Given the description of an element on the screen output the (x, y) to click on. 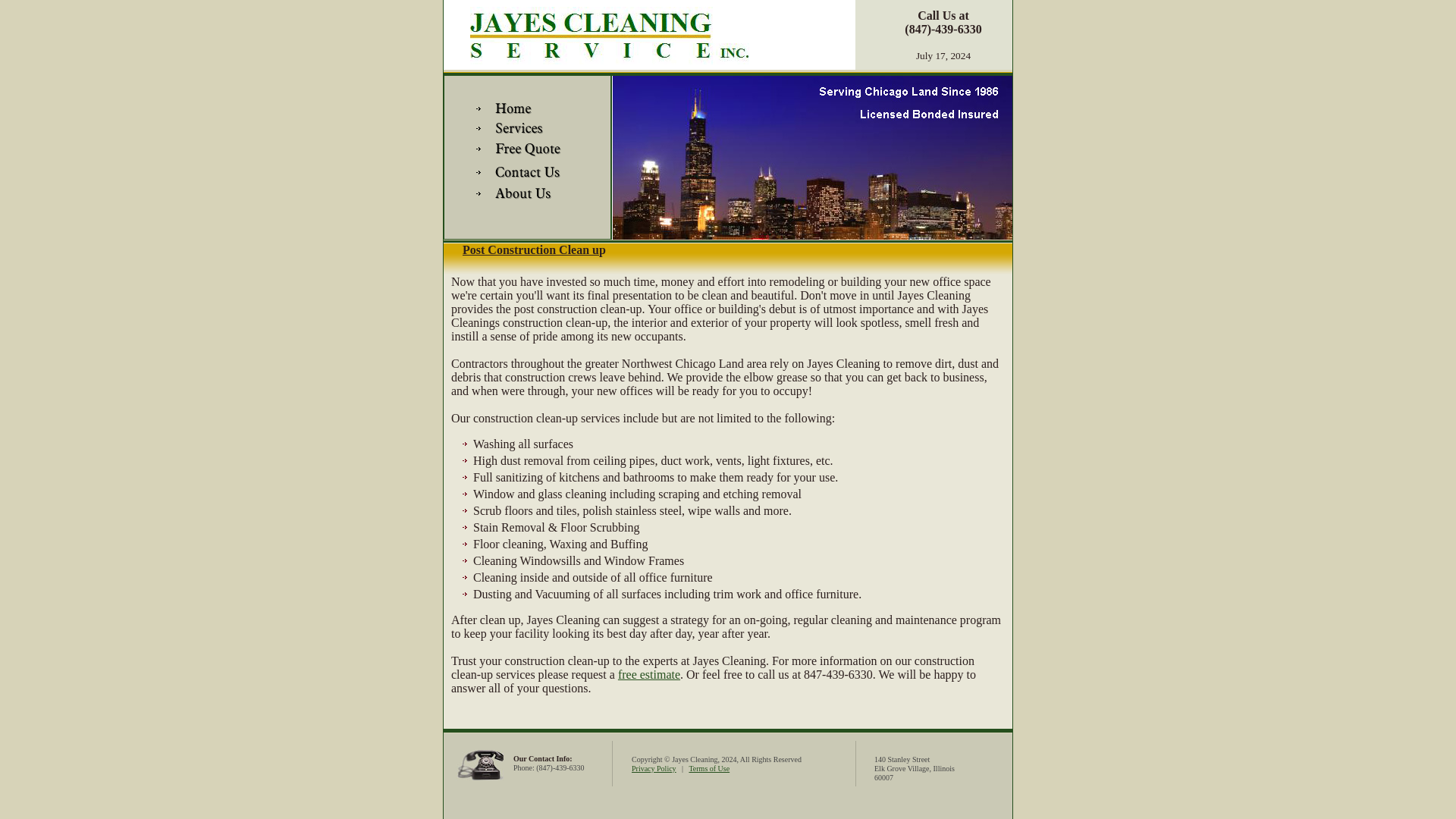
Terms of Use (708, 768)
Privacy Policy (654, 768)
free estimate (648, 674)
